Given the description of an element on the screen output the (x, y) to click on. 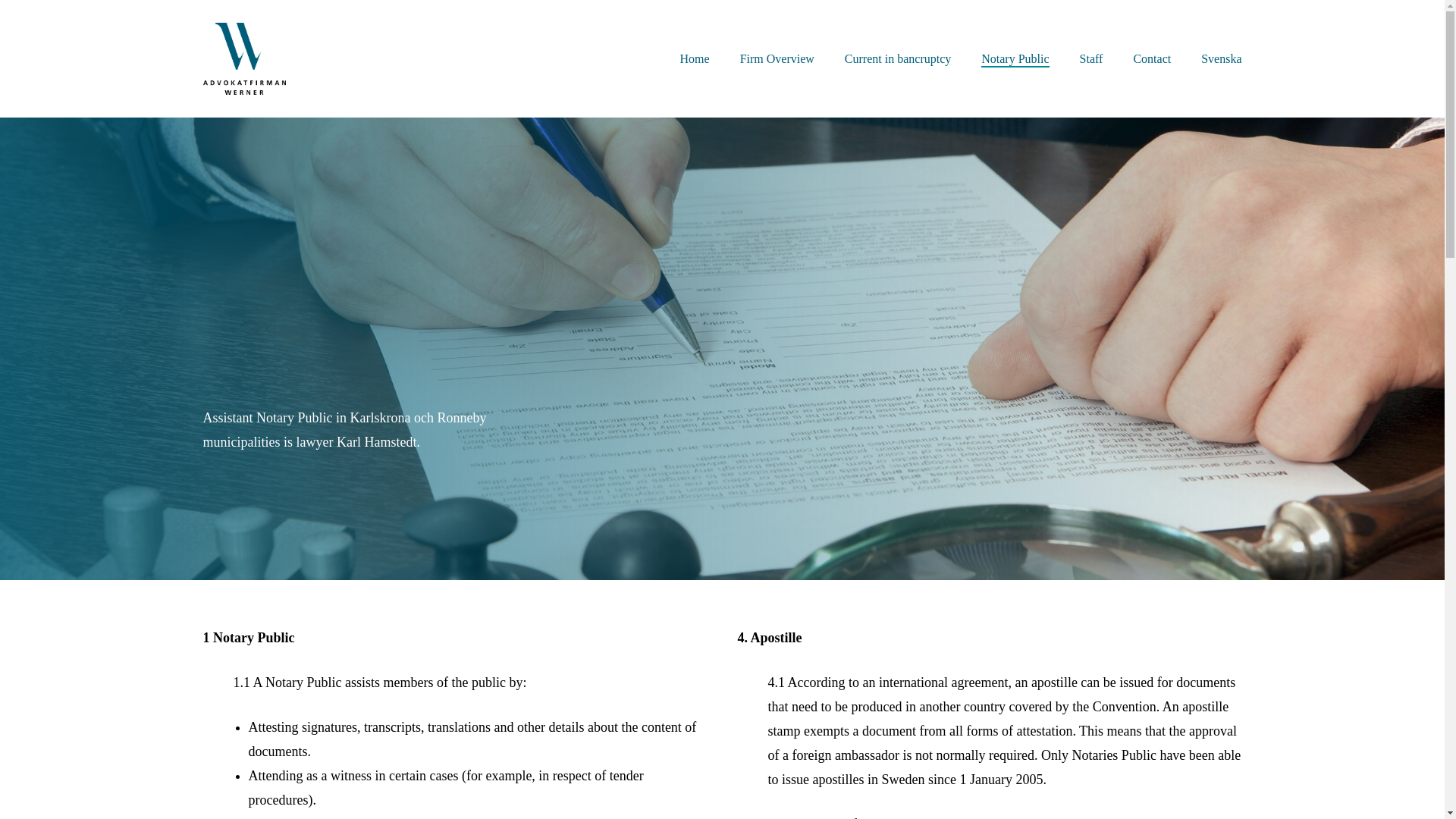
Staff (1091, 59)
Contact (1151, 59)
Home (694, 59)
Svenska (1221, 59)
Firm Overview (776, 59)
Notary Public (1014, 59)
Current in bancruptcy (897, 59)
